Given the description of an element on the screen output the (x, y) to click on. 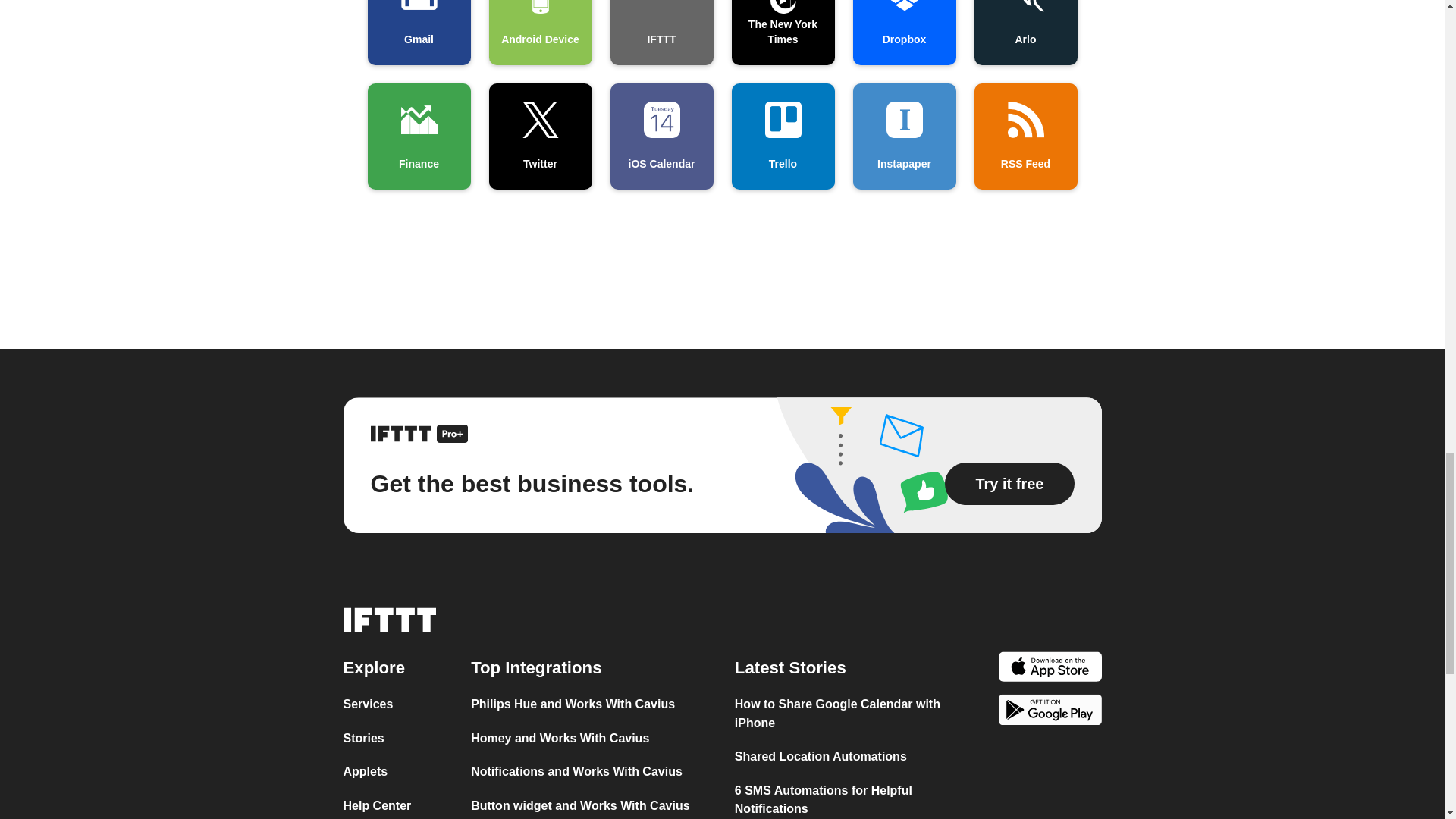
Gmail (418, 32)
Dropbox (903, 32)
iOS Calendar (661, 136)
Instapaper (903, 136)
IFTTT (661, 32)
The New York Times (782, 32)
Arlo (1025, 32)
Twitter (539, 136)
Trello (782, 136)
Android Device (539, 32)
Finance (418, 136)
